Given the description of an element on the screen output the (x, y) to click on. 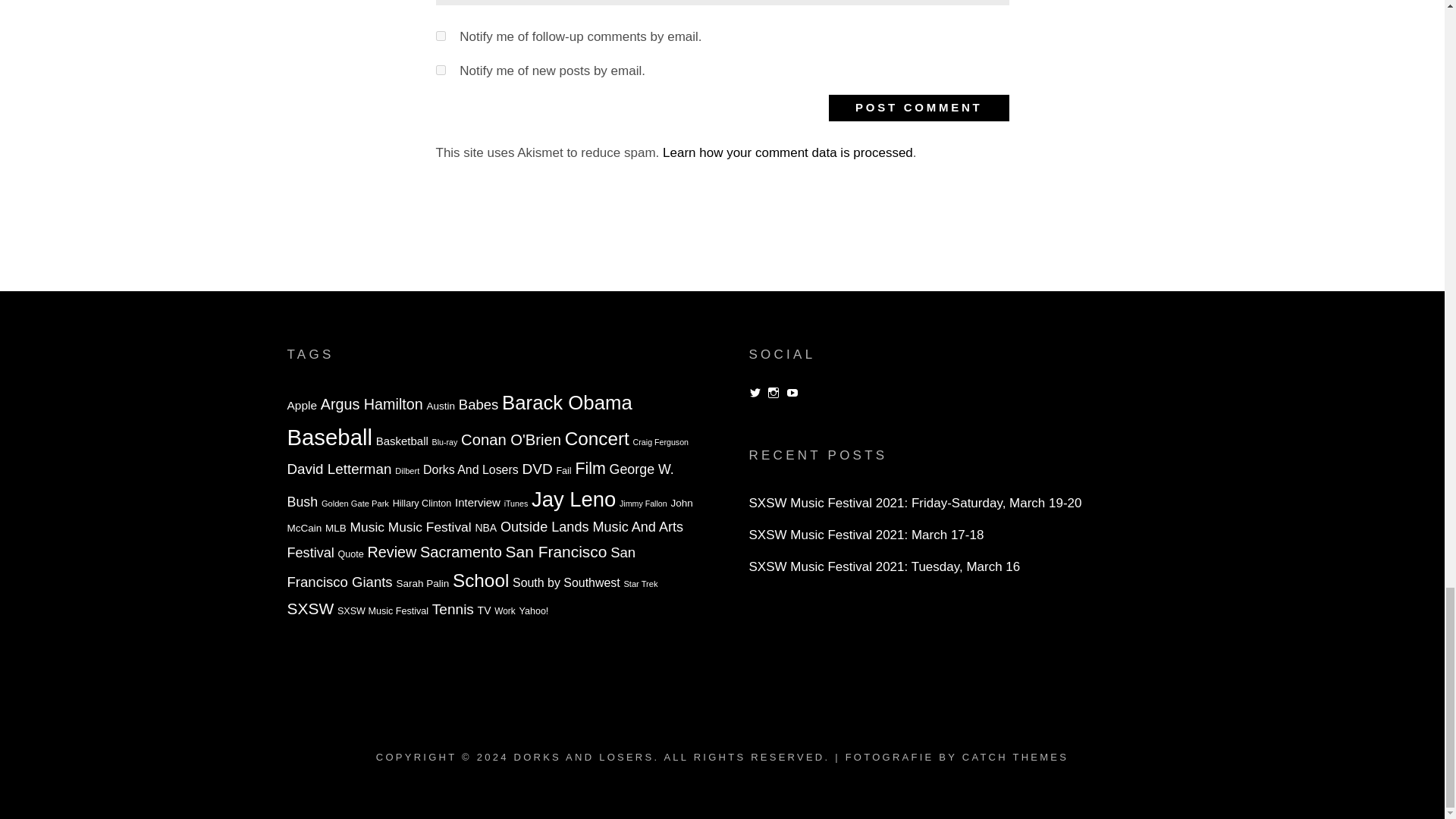
Post Comment (918, 108)
Argus Hamilton (371, 403)
Learn how your comment data is processed (787, 152)
Post Comment (918, 108)
Apple (300, 404)
subscribe (440, 35)
subscribe (440, 70)
